Given the description of an element on the screen output the (x, y) to click on. 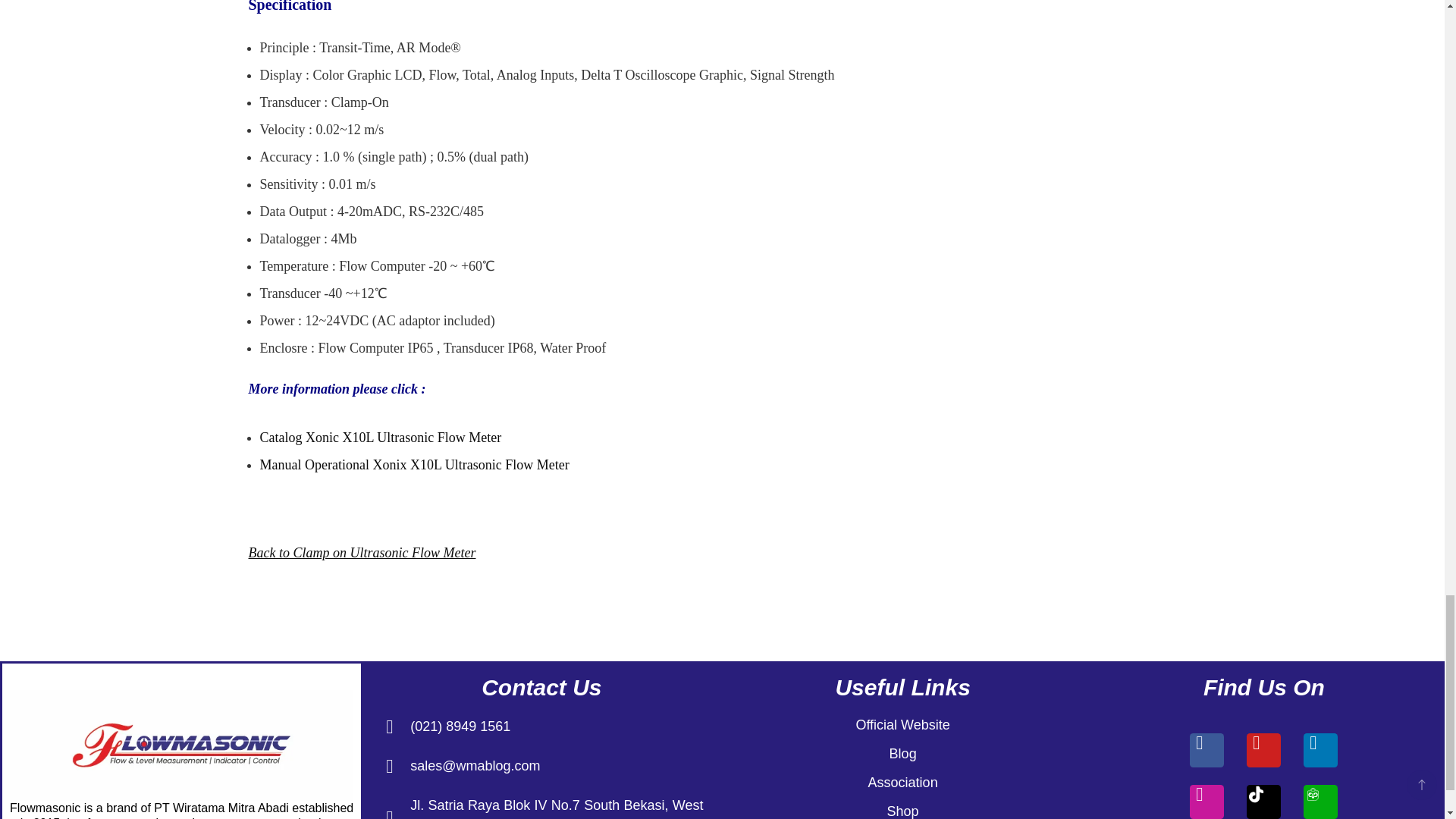
Catalog Xonic X10L Ultrasonic Flow Meter (379, 437)
X10L,Compact,Eng Catalog (379, 437)
Manual Operational Xonix X10L Ultrasonic Flow Meter (414, 464)
